Given the description of an element on the screen output the (x, y) to click on. 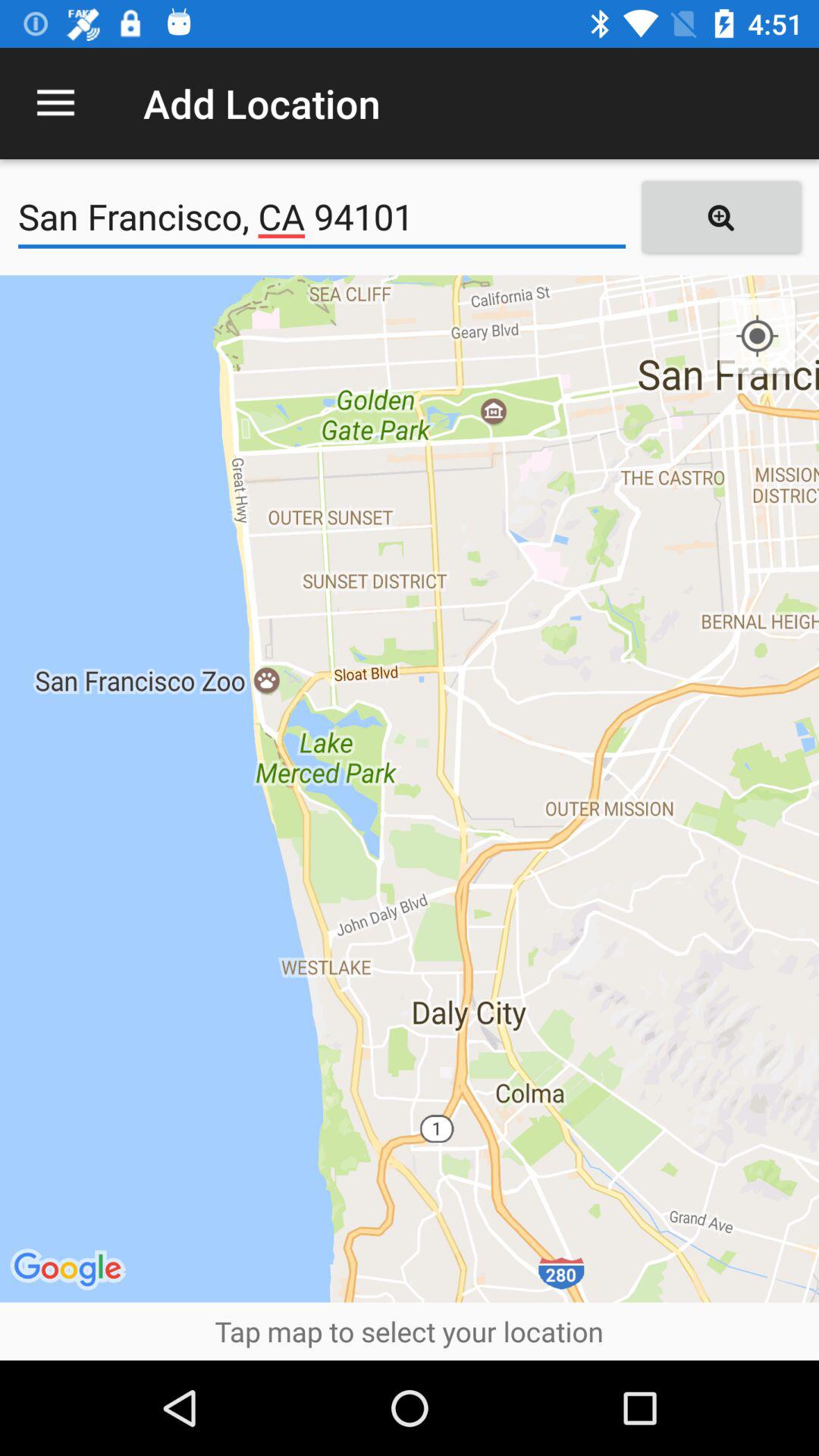
launch icon next to add location item (55, 103)
